Given the description of an element on the screen output the (x, y) to click on. 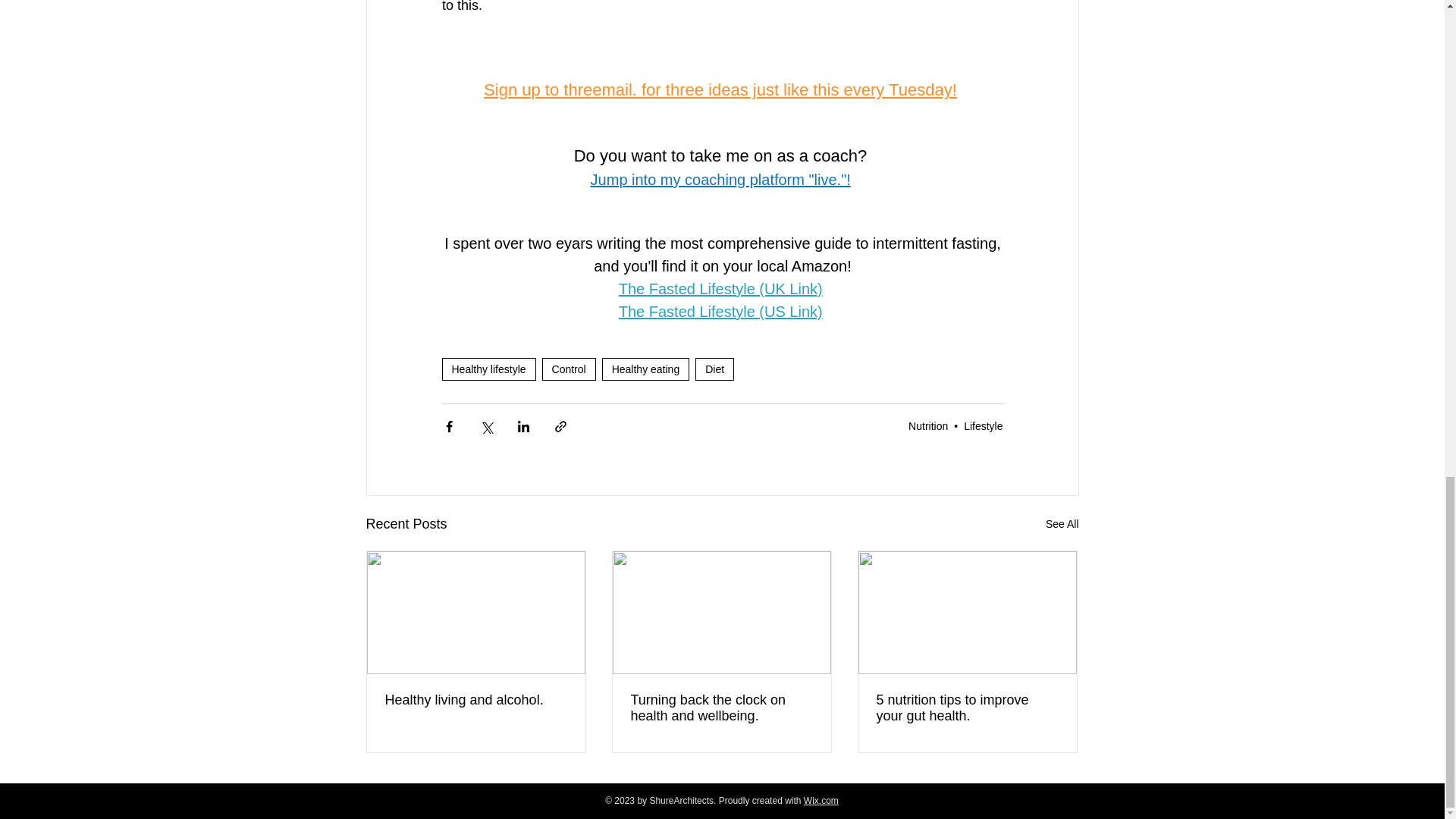
Healthy living and alcohol. (476, 700)
Jump into my coaching platform "live."! (719, 179)
5 nutrition tips to improve your gut health. (967, 707)
Diet (714, 368)
Control (568, 368)
Lifestyle (983, 426)
Healthy lifestyle (488, 368)
See All (1061, 524)
Nutrition (927, 426)
Turning back the clock on health and wellbeing. (721, 707)
